Given the description of an element on the screen output the (x, y) to click on. 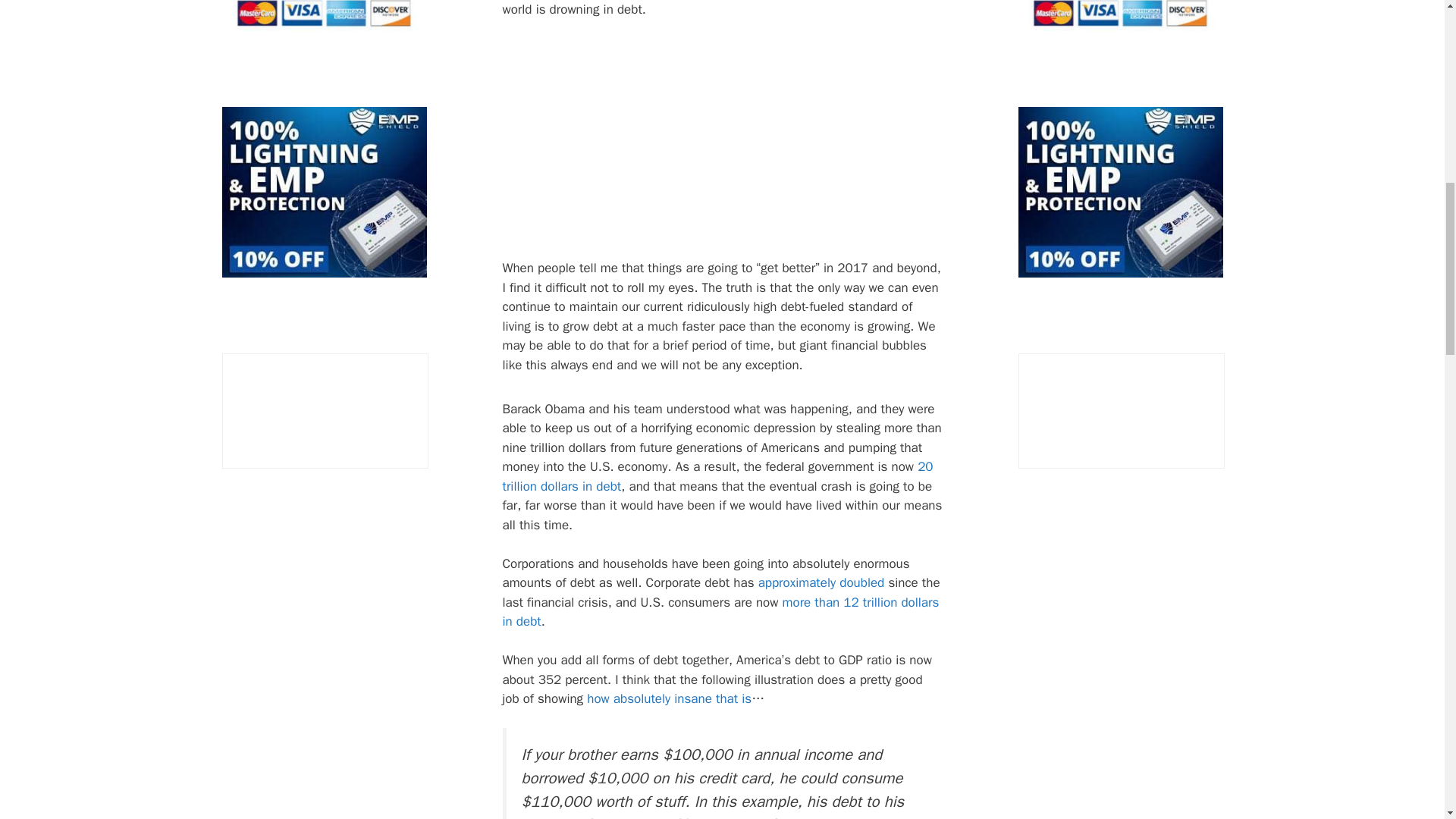
20 trillion dollars in debt (717, 476)
Advertisement (756, 144)
more than 12 trillion dollars in debt (720, 611)
more than 12 trillion dollars in debt (720, 611)
how absolutely insane that is (668, 698)
approximately doubled (821, 582)
20 trillion dollars in debt (717, 476)
approximately doubled (821, 582)
how absolutely insane that is (668, 698)
